Given the description of an element on the screen output the (x, y) to click on. 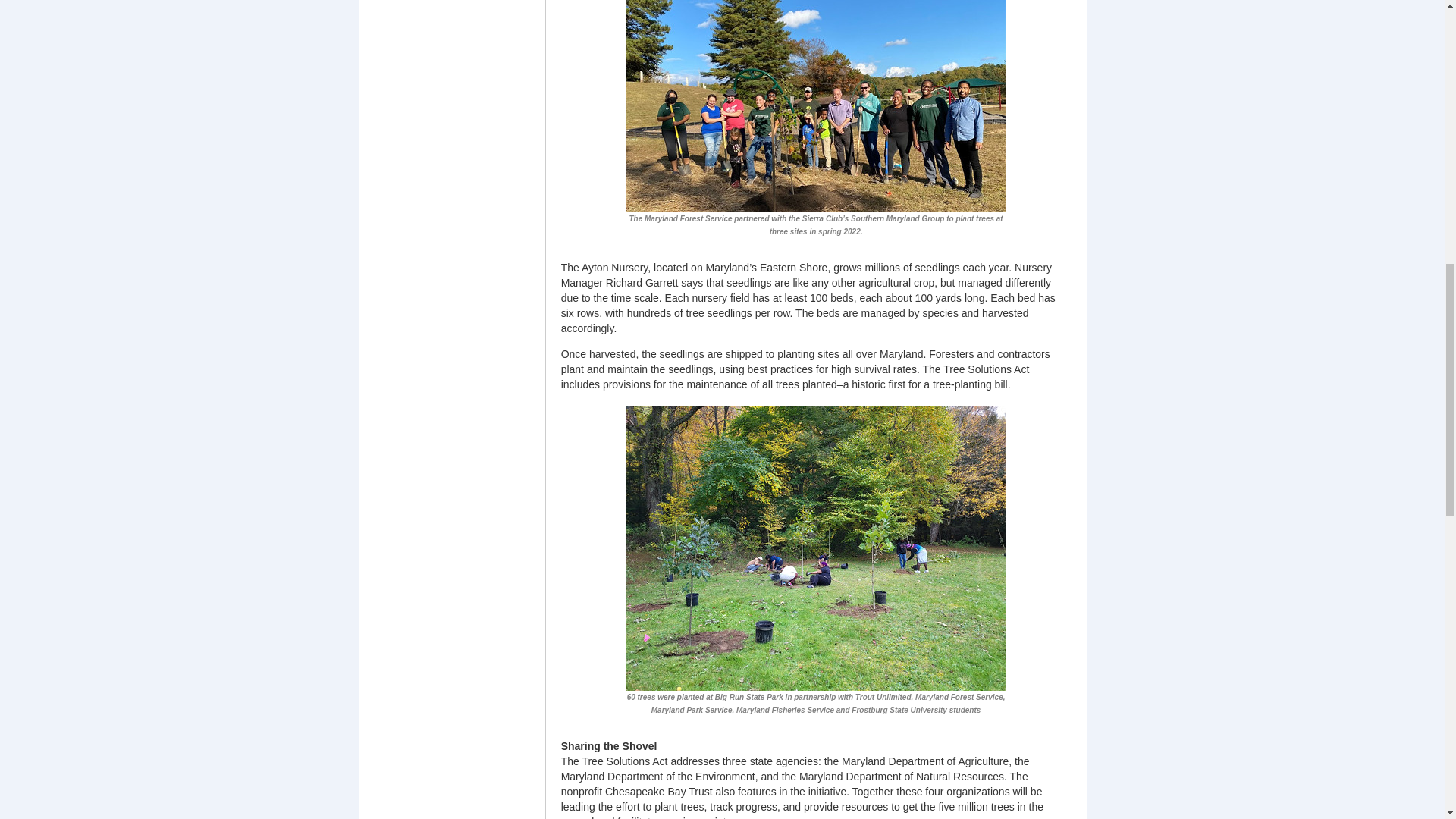
5 Million Trees Planting (816, 80)
5 Million Trees Planting (816, 547)
